Given the description of an element on the screen output the (x, y) to click on. 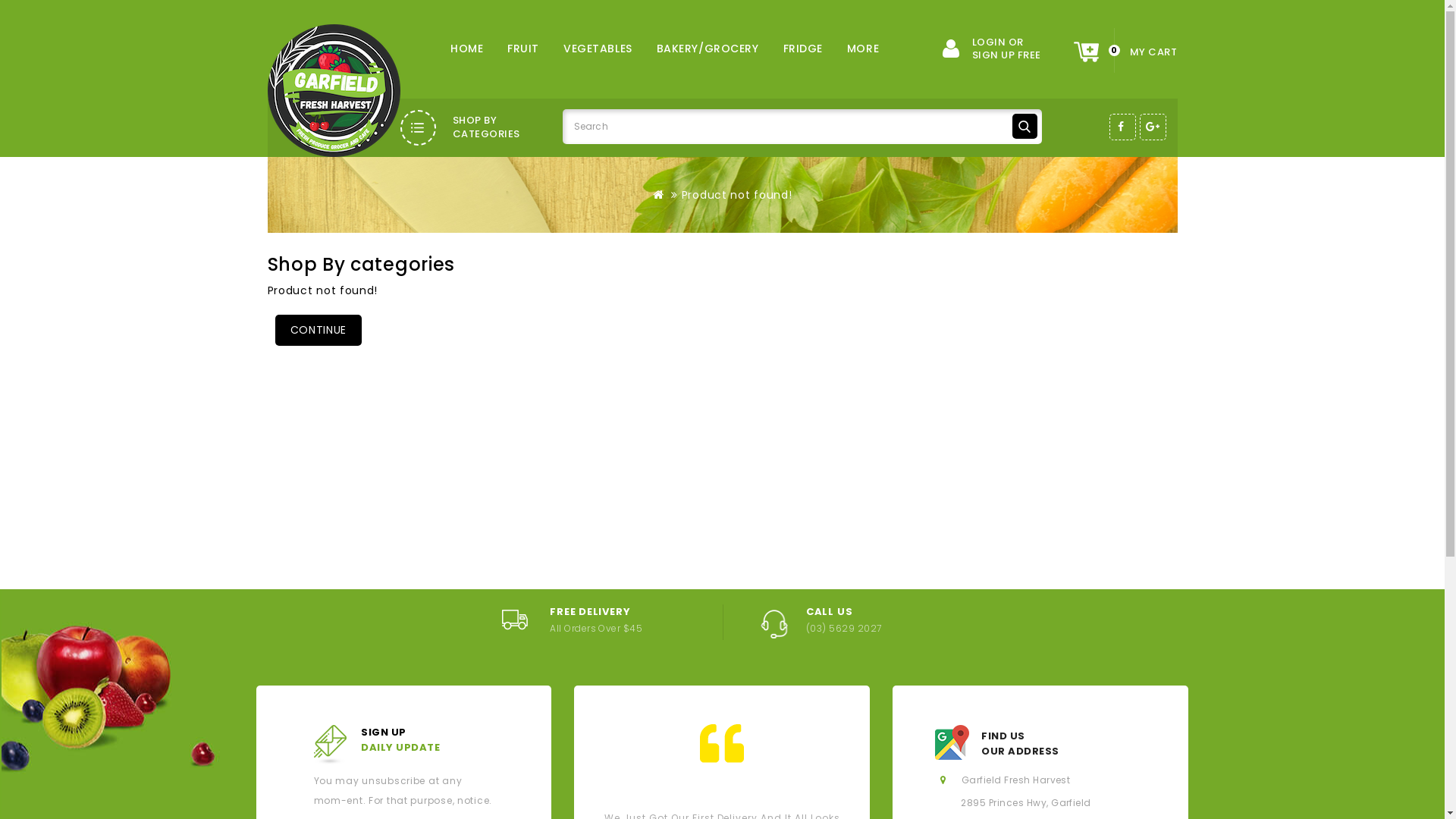
FRIDGE Element type: text (802, 48)
FRUIT Element type: text (523, 48)
Facebook Element type: text (1122, 126)
Garfield Fresh Harvest Element type: hover (332, 90)
HOME Element type: text (466, 48)
BAKERY/GROCERY Element type: text (707, 48)
CONTINUE Element type: text (317, 329)
VEGETABLES Element type: text (597, 48)
Google Element type: text (1152, 126)
2895 Princes Hwy, Garfield Element type: text (1025, 802)
SEARCH Element type: text (1023, 125)
MORE Element type: text (862, 48)
Product not found! Element type: text (736, 194)
LOGIN OR
SIGN UP FREE Element type: text (991, 48)
testmonial Element type: hover (721, 743)
